Given the description of an element on the screen output the (x, y) to click on. 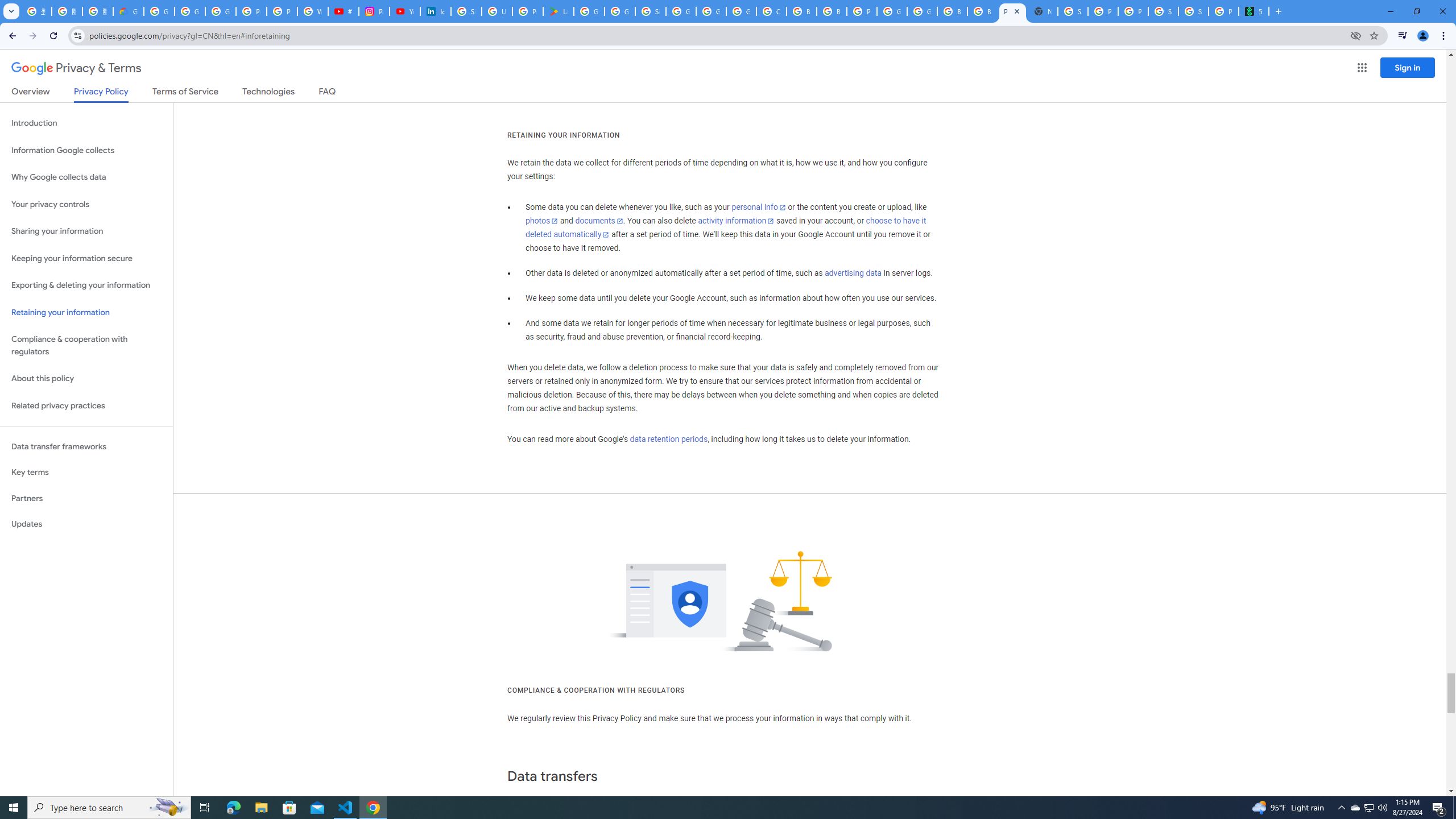
Browse Chrome as a guest - Computer - Google Chrome Help (982, 11)
Retaining your information (86, 312)
Related privacy practices (86, 405)
About this policy (86, 379)
Sign in - Google Accounts (465, 11)
Privacy Help Center - Policies Help (282, 11)
Google Cloud Platform (892, 11)
Key terms (86, 472)
Google Workspace - Specific Terms (619, 11)
Google Cloud Platform (710, 11)
